Given the description of an element on the screen output the (x, y) to click on. 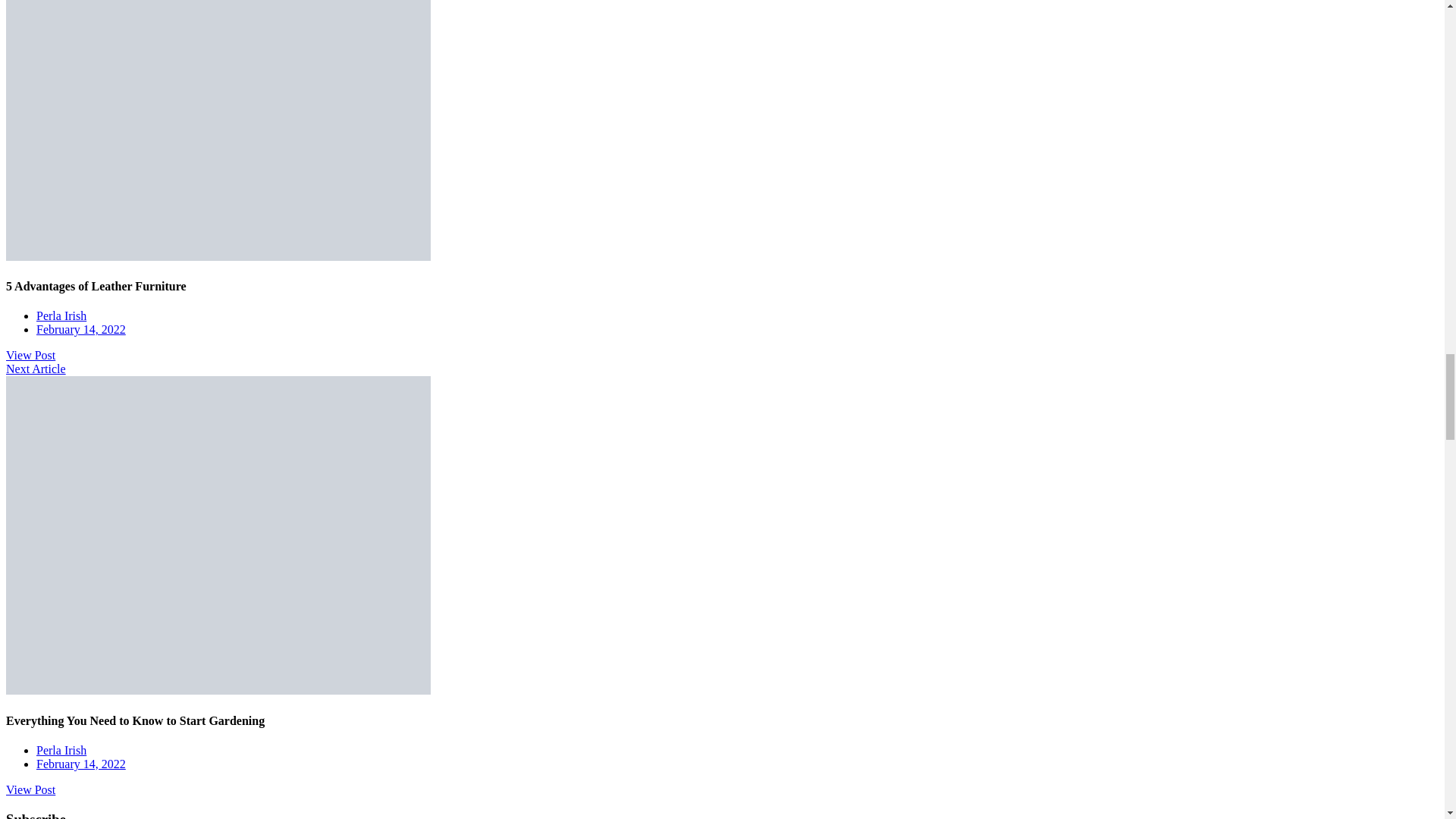
View all posts by Perla Irish (60, 315)
View all posts by Perla Irish (60, 749)
